Given the description of an element on the screen output the (x, y) to click on. 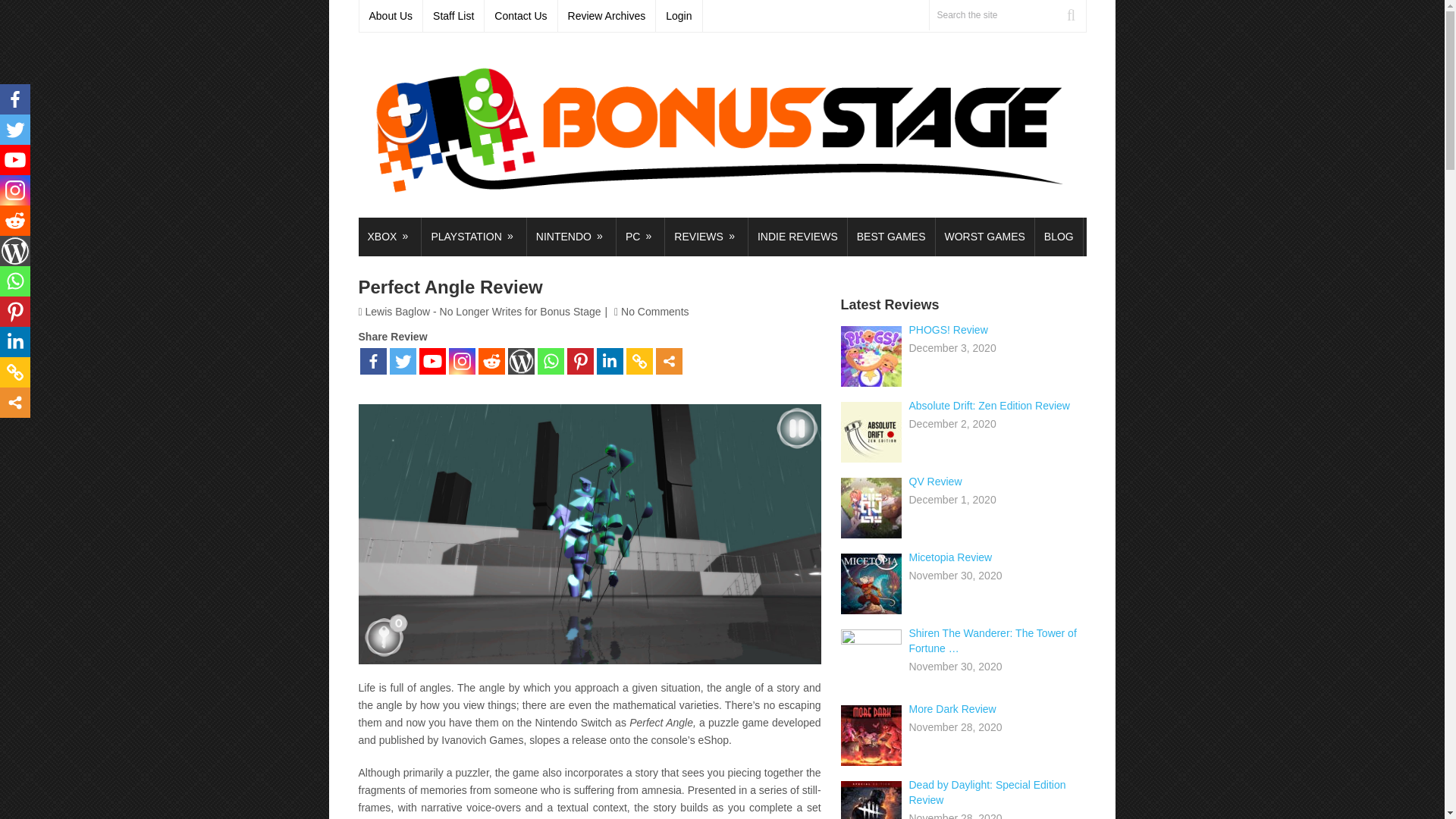
PC (639, 236)
NINTENDO (571, 236)
XBOX (389, 236)
About Us (391, 15)
PLAYSTATION (473, 236)
REVIEWS (706, 236)
Login (678, 15)
Review Archives (606, 15)
Staff List (453, 15)
Contact Us (520, 15)
